Given the description of an element on the screen output the (x, y) to click on. 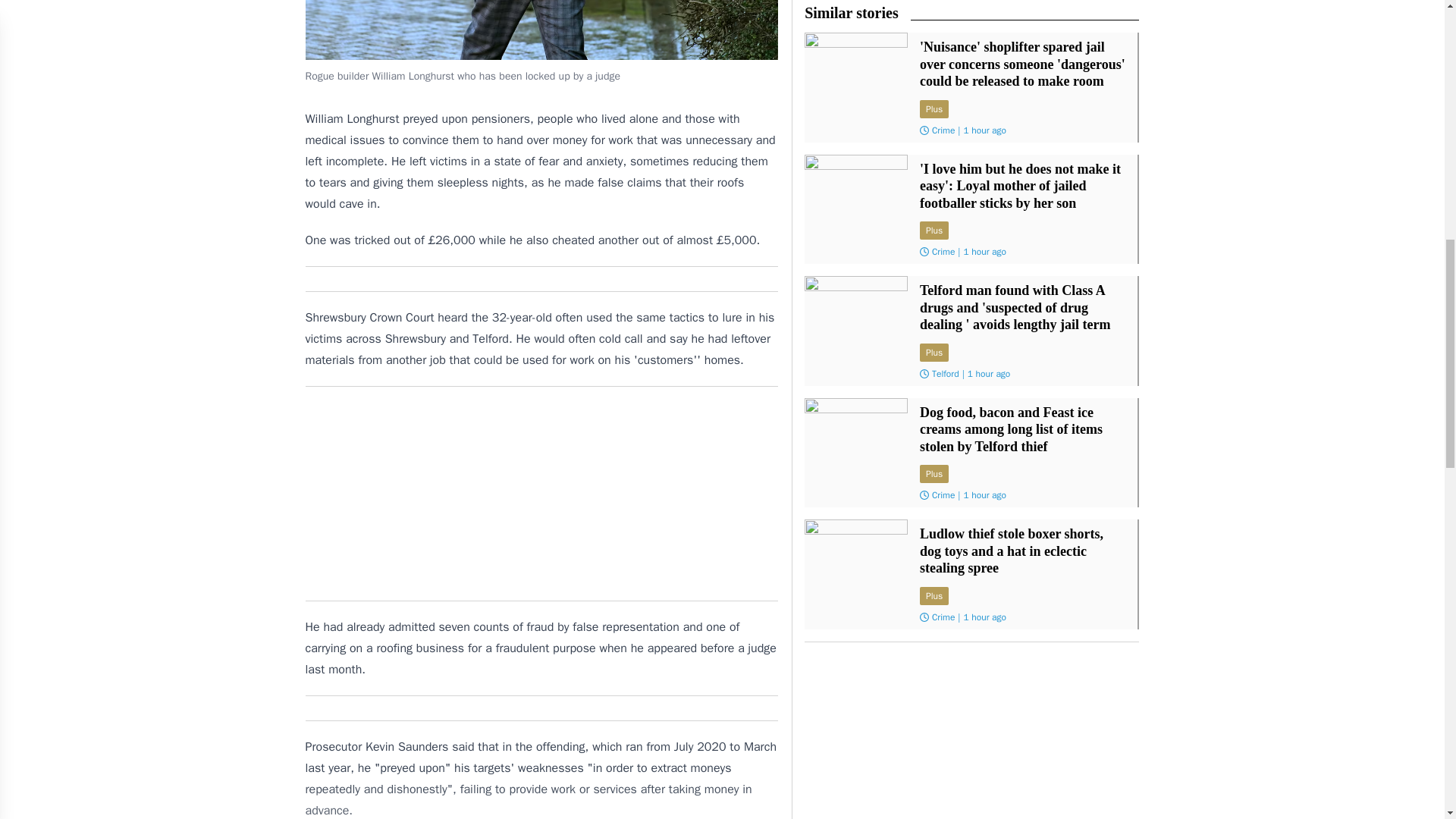
Crime (943, 616)
Crime (943, 494)
Crime (943, 130)
Telford (945, 372)
Crime (943, 251)
